Given the description of an element on the screen output the (x, y) to click on. 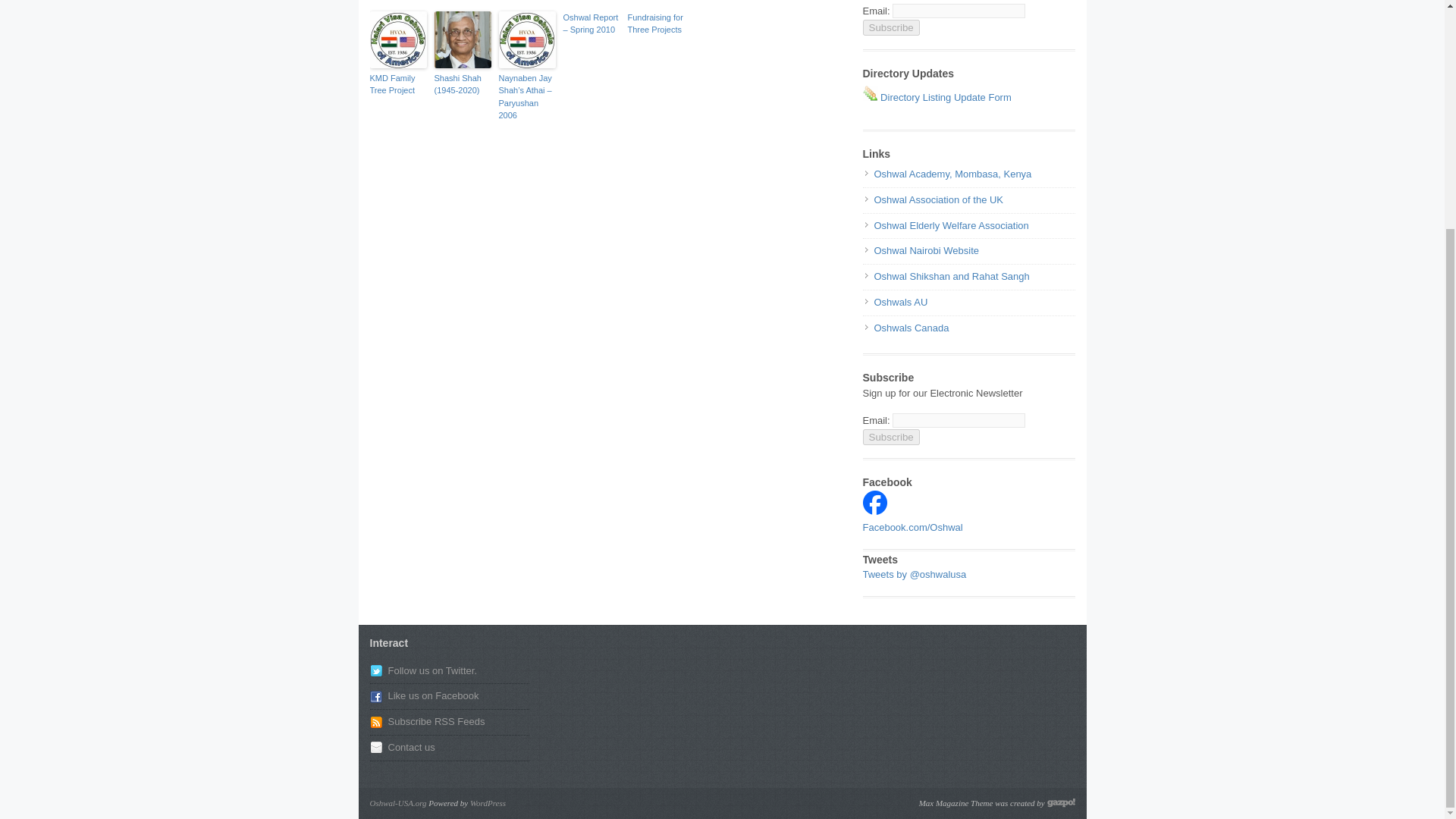
Oshwals Canada (911, 327)
Oshwal Nairobi Website (925, 250)
Oshwal Elderly Welfare Association (950, 225)
Oshwal Association of the UK (938, 199)
Subscribe (891, 27)
Contact us (411, 747)
Oshwal Academy, Mombasa, Kenya (951, 173)
Fundraising for Three Projects (655, 23)
Oshwal-USA.org (397, 802)
Subscribe RSS Feeds (436, 721)
